Given the description of an element on the screen output the (x, y) to click on. 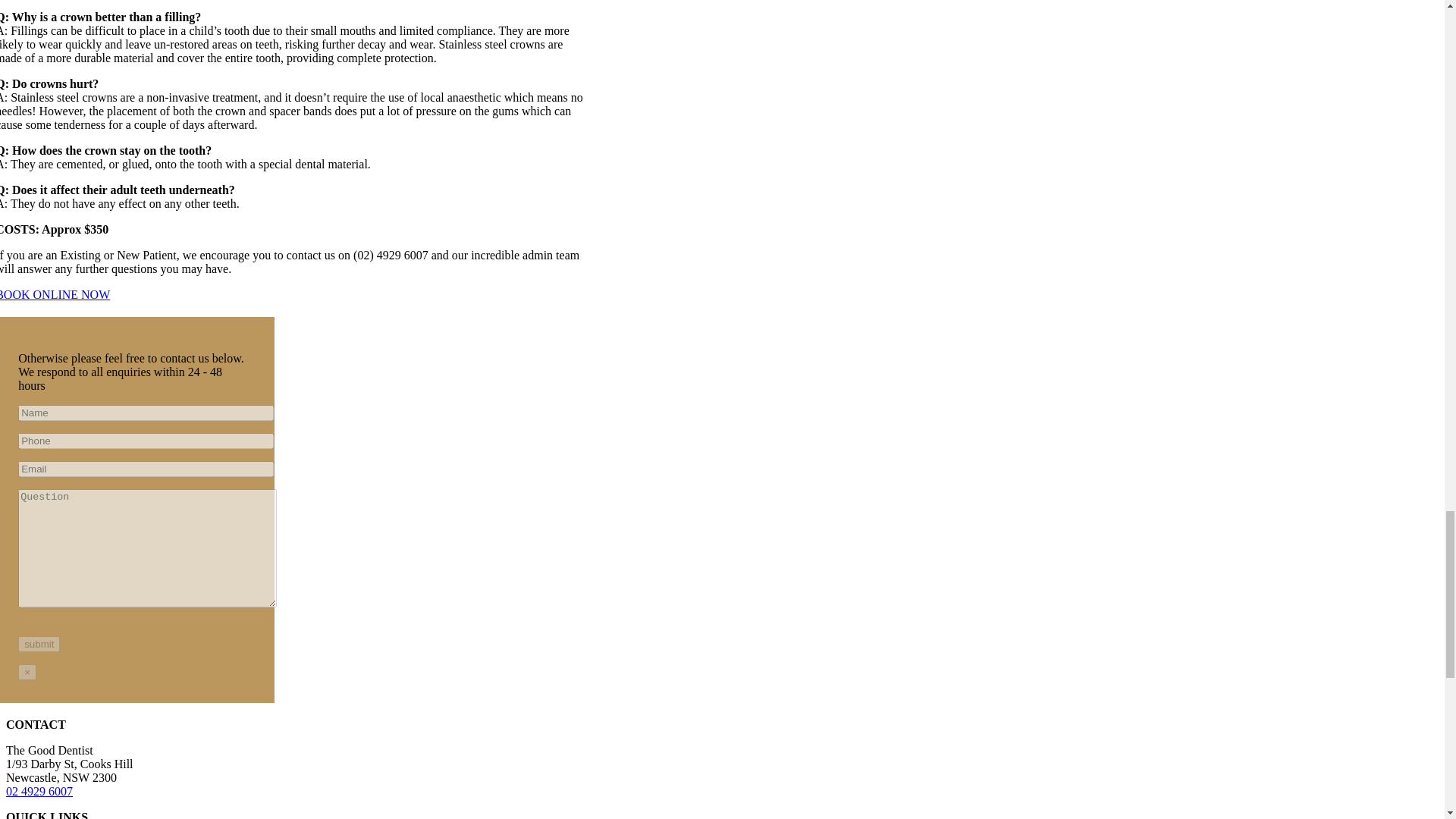
submit (38, 643)
